Given the description of an element on the screen output the (x, y) to click on. 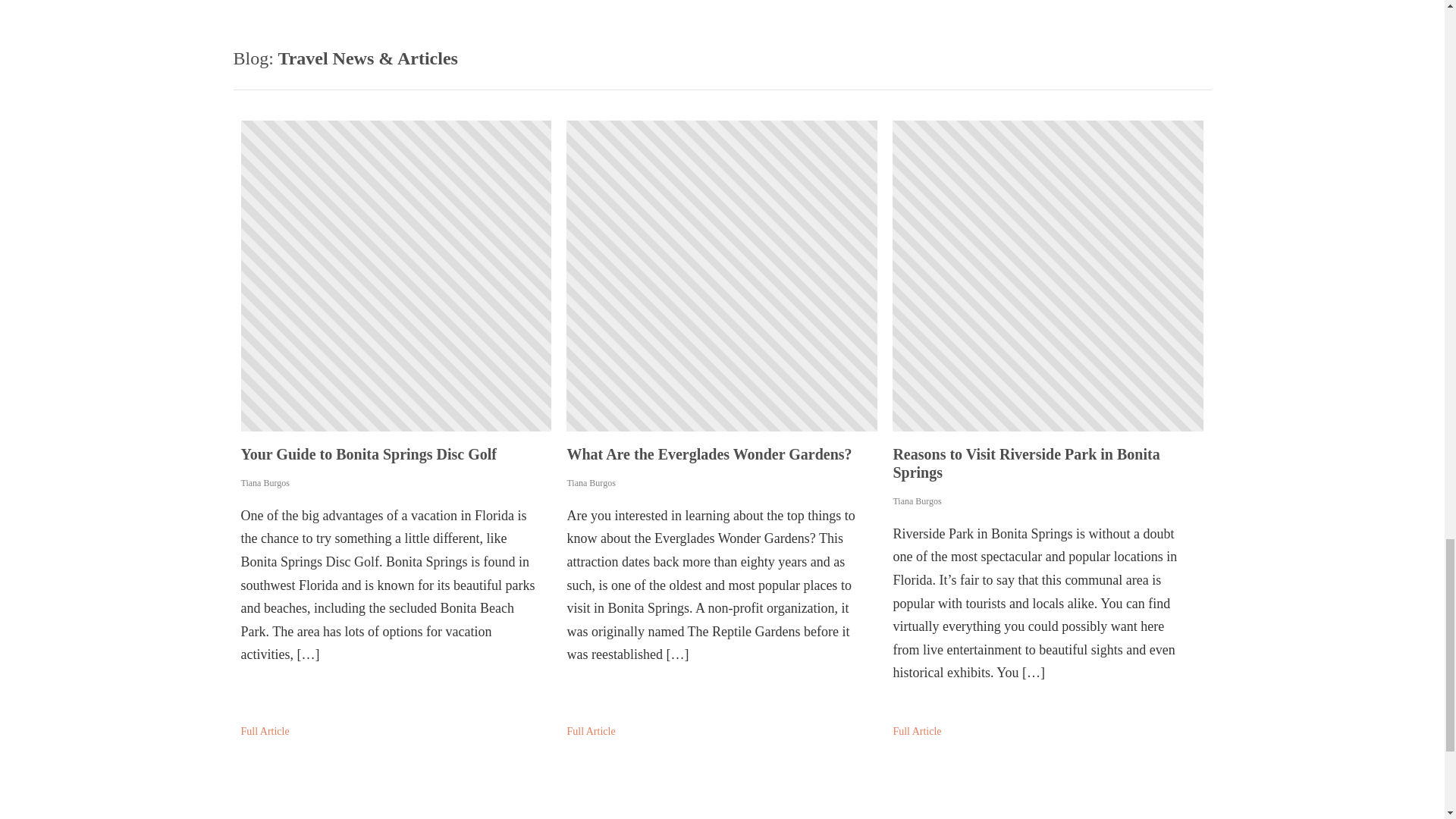
March 18, 2020 (721, 275)
Full Article (916, 732)
March 18, 2020 (396, 275)
Your Guide to Bonita Springs Disc Golf (396, 453)
Full Article (265, 732)
Full Article (590, 732)
Reasons to Visit Riverside Park in Bonita Springs (1048, 462)
What Are the Everglades Wonder Gardens? (721, 453)
March 18, 2020 (1048, 275)
